Given the description of an element on the screen output the (x, y) to click on. 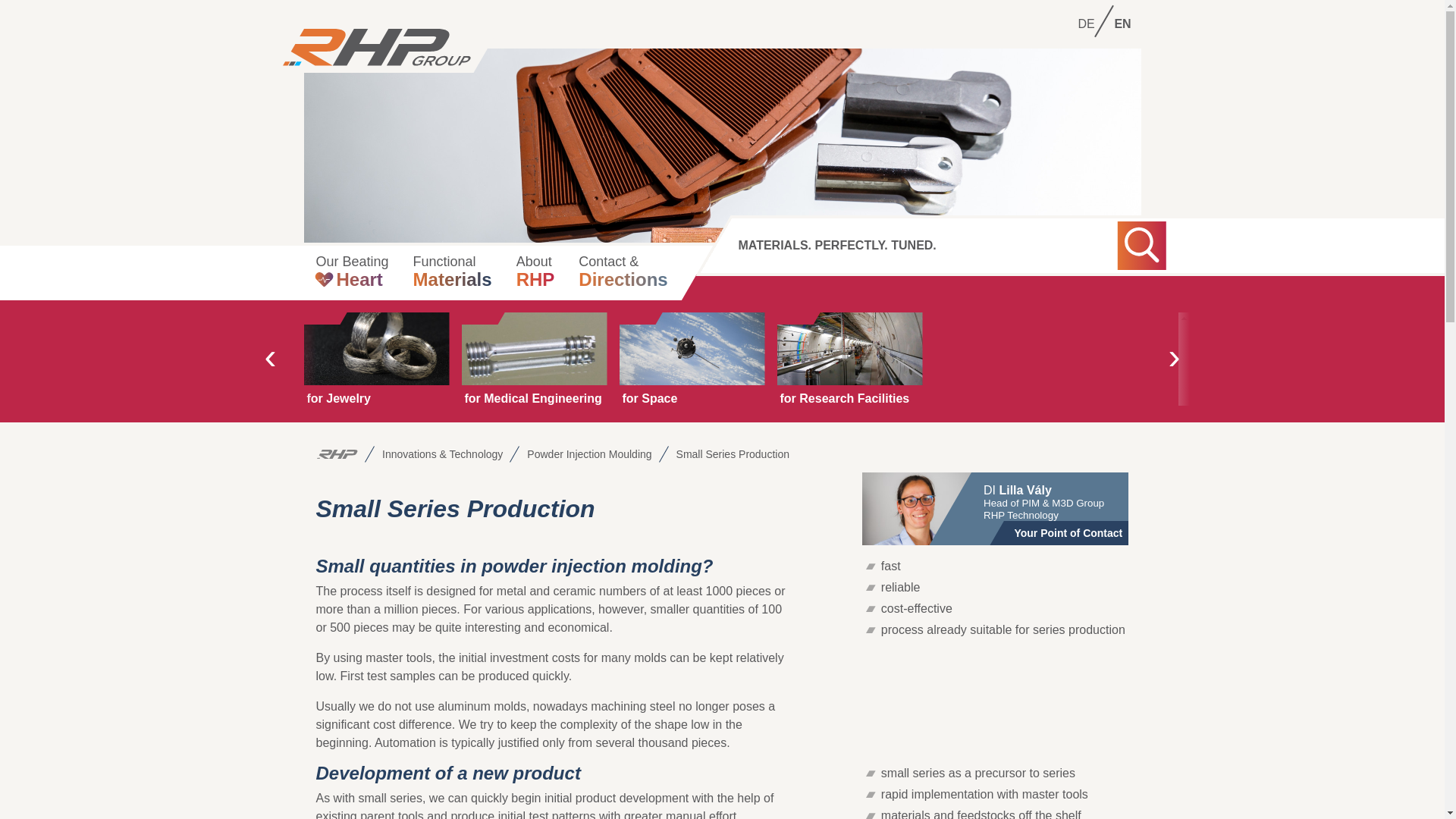
Material Tuning (354, 317)
Home (335, 454)
High Entropy Alloys (535, 272)
Additive Manufacturing (366, 129)
Powder Injection Moulding (365, 84)
Hot Pressing (589, 454)
for Space (347, 296)
Material Development (691, 358)
